Given the description of an element on the screen output the (x, y) to click on. 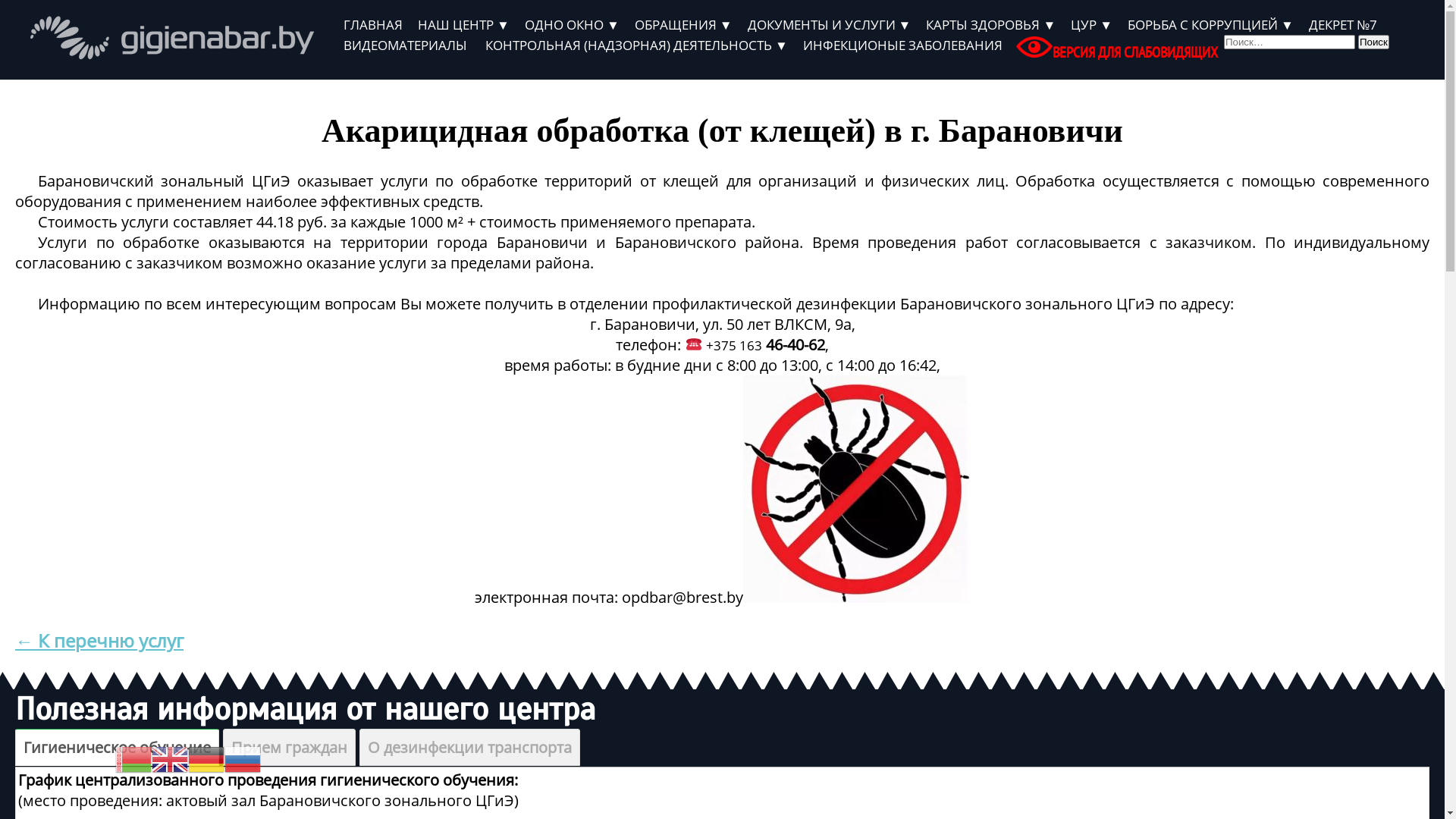
German Element type: hover (206, 758)
English Element type: hover (169, 758)
Belarusian Element type: hover (133, 758)
Russian Element type: hover (242, 758)
